Given the description of an element on the screen output the (x, y) to click on. 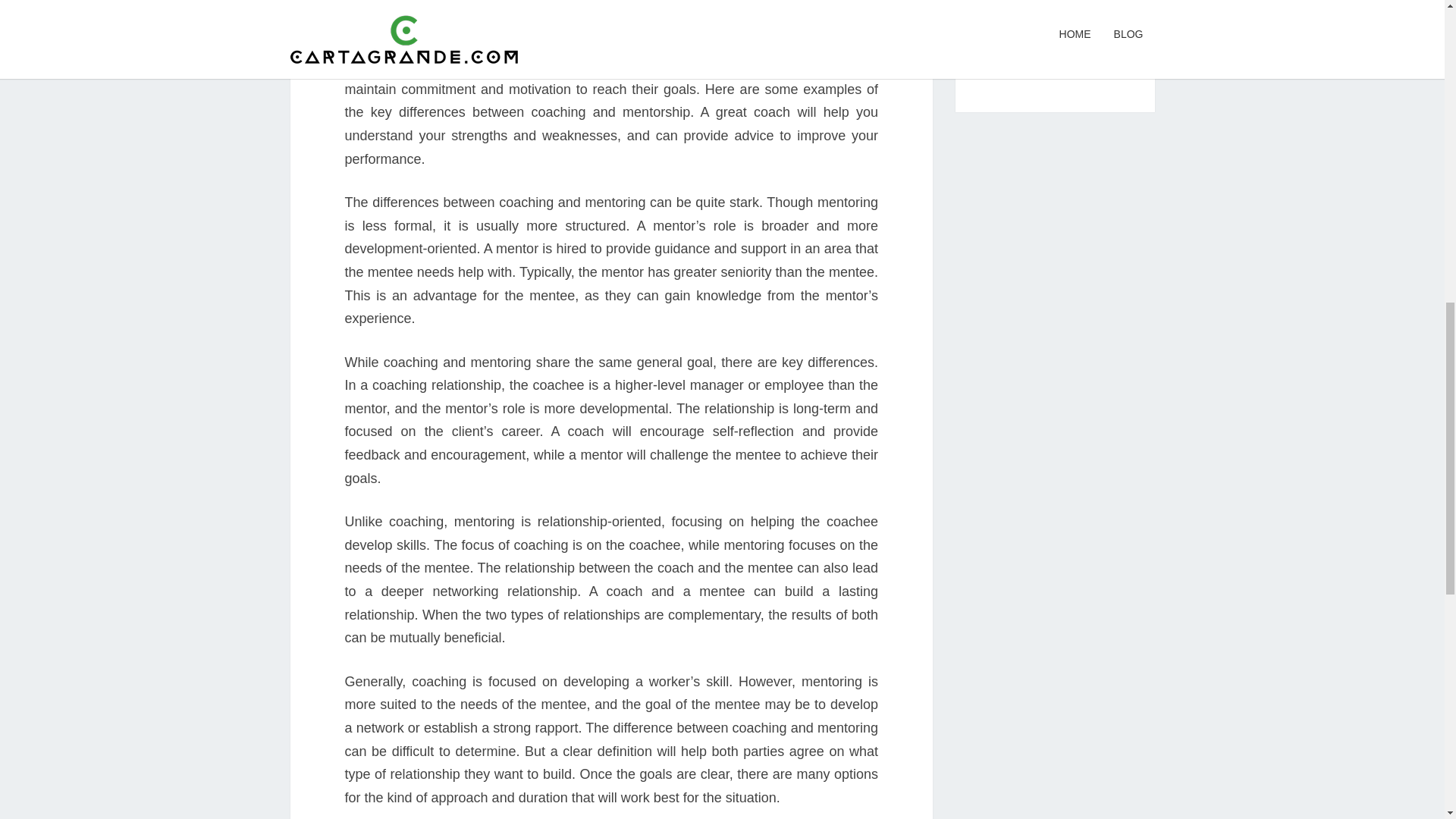
The Differences Between Coaching and Mentoring (1053, 6)
